Given the description of an element on the screen output the (x, y) to click on. 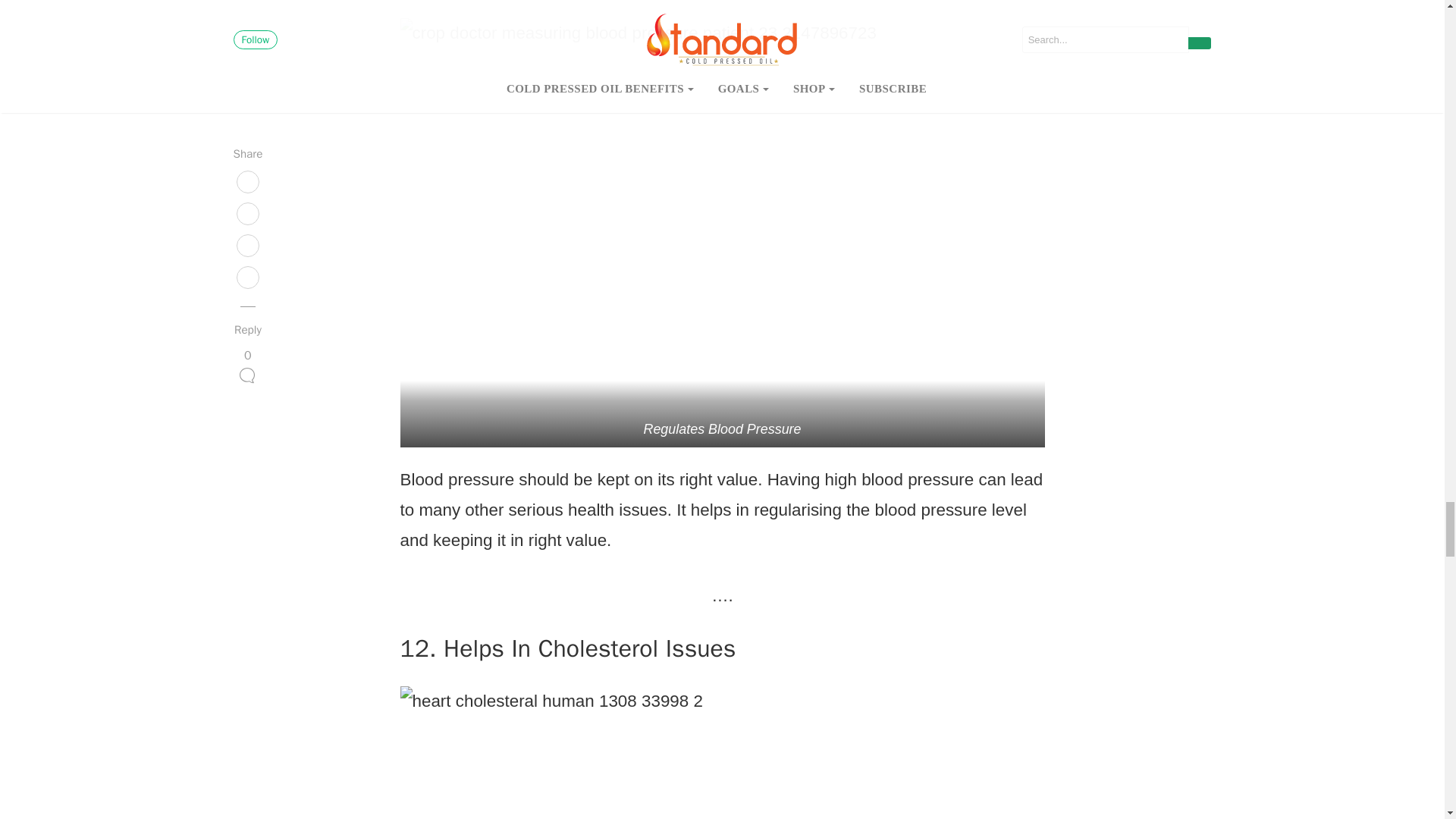
14 Must- Know Benefits Of Honey! 11 (722, 752)
